Given the description of an element on the screen output the (x, y) to click on. 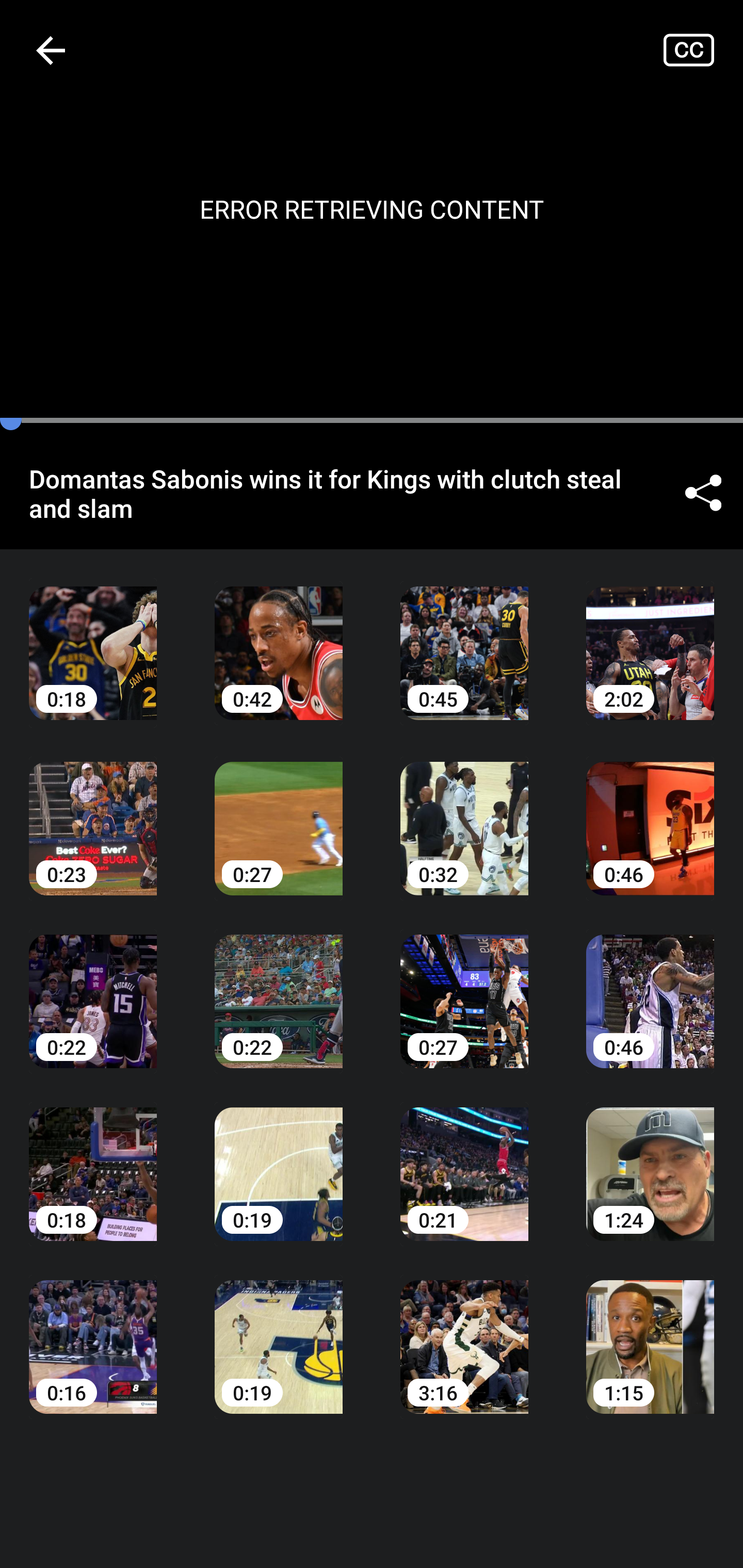
Navigate up (50, 50)
Closed captions  (703, 49)
Share © (703, 493)
0:18 (92, 637)
0:42 (278, 637)
0:45 (464, 637)
2:02 (650, 637)
0:23 (92, 813)
0:27 (278, 813)
0:32 (464, 813)
0:46 (650, 813)
0:22 (92, 987)
0:22 (278, 987)
0:27 (464, 987)
0:46 (650, 987)
0:18 (92, 1160)
0:19 (278, 1160)
0:21 (464, 1160)
1:24 (650, 1160)
0:16 (92, 1332)
0:19 (278, 1332)
3:16 (464, 1332)
1:15 (650, 1332)
